Given the description of an element on the screen output the (x, y) to click on. 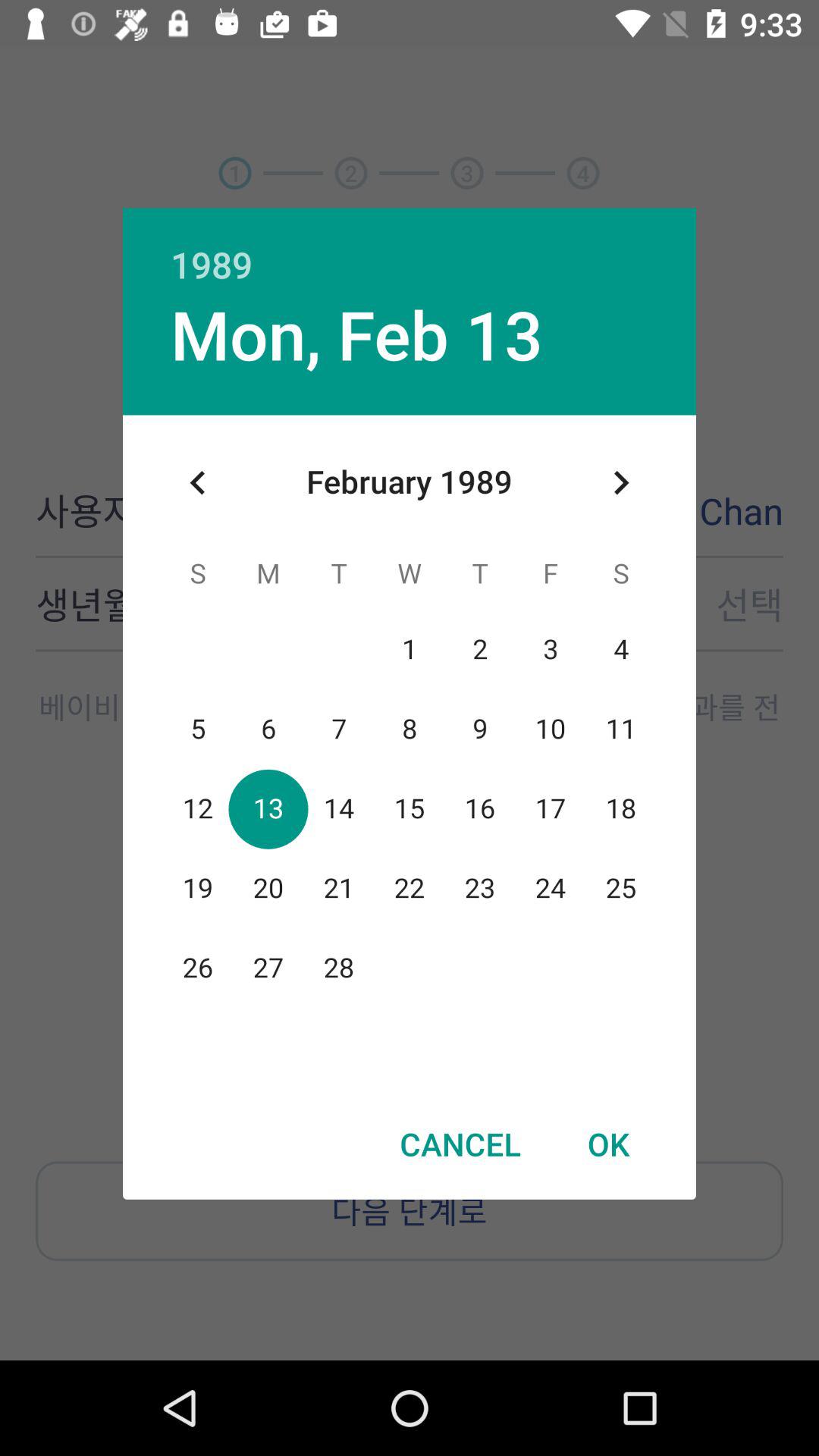
tap item below the 1989 icon (356, 333)
